Given the description of an element on the screen output the (x, y) to click on. 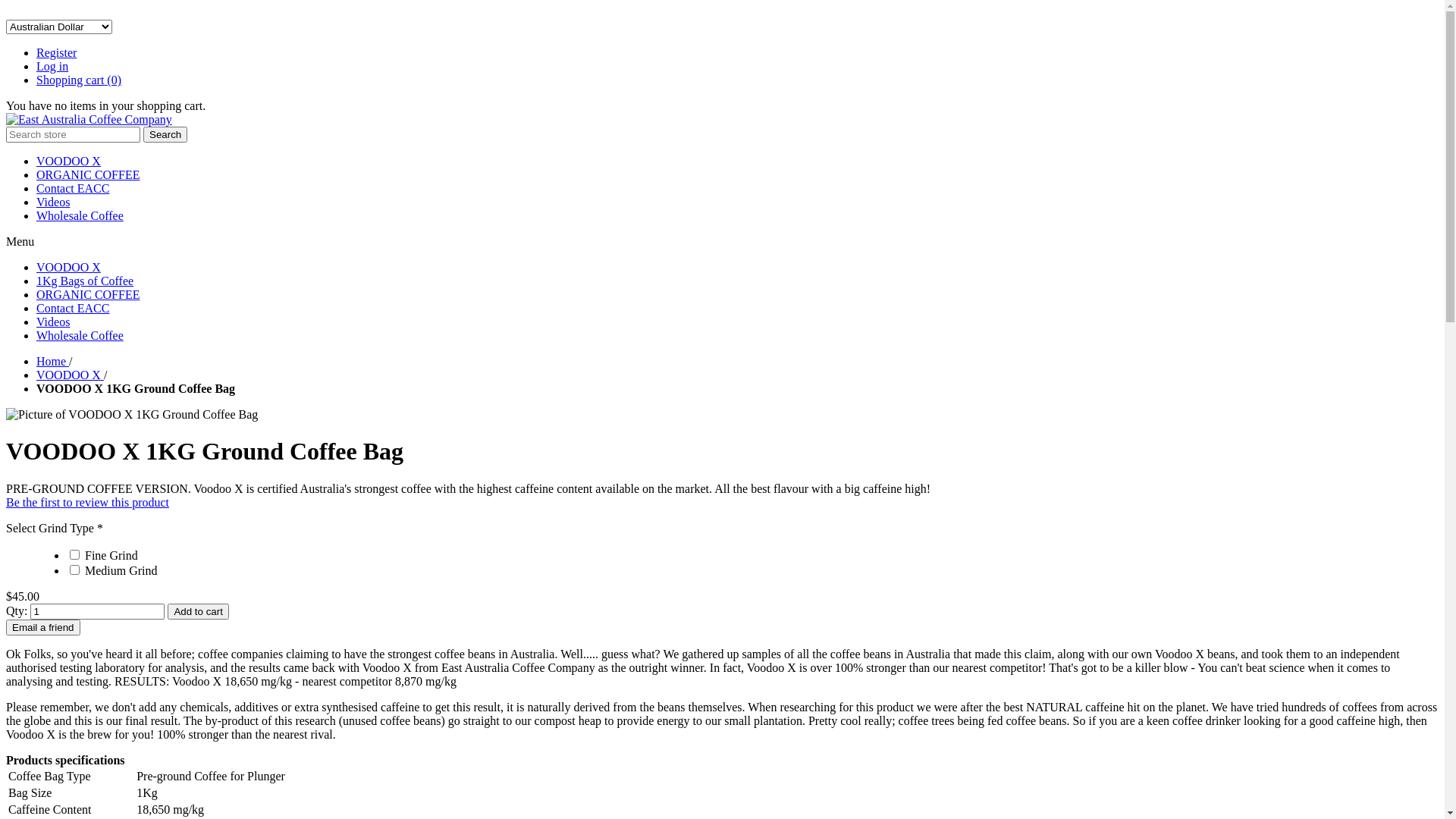
VOODOO X Element type: text (68, 266)
Contact EACC Element type: text (72, 188)
Wholesale Coffee Element type: text (79, 215)
Search Element type: text (165, 134)
Close Element type: hover (7, 12)
Home Element type: text (52, 360)
Shopping cart (0) Element type: text (78, 79)
Register Element type: text (56, 52)
Add to cart Element type: text (197, 611)
Videos Element type: text (52, 201)
Videos Element type: text (52, 321)
Picture of VOODOO X 1KG Ground Coffee Bag Element type: hover (131, 414)
ORGANIC COFFEE Element type: text (87, 174)
Be the first to review this product Element type: text (87, 501)
VOODOO X Element type: text (68, 160)
VOODOO X Element type: text (69, 374)
Wholesale Coffee Element type: text (79, 335)
Contact EACC Element type: text (72, 307)
Log in Element type: text (52, 65)
Email a friend Element type: text (43, 627)
1Kg Bags of Coffee Element type: text (84, 280)
ORGANIC COFFEE Element type: text (87, 294)
